Given the description of an element on the screen output the (x, y) to click on. 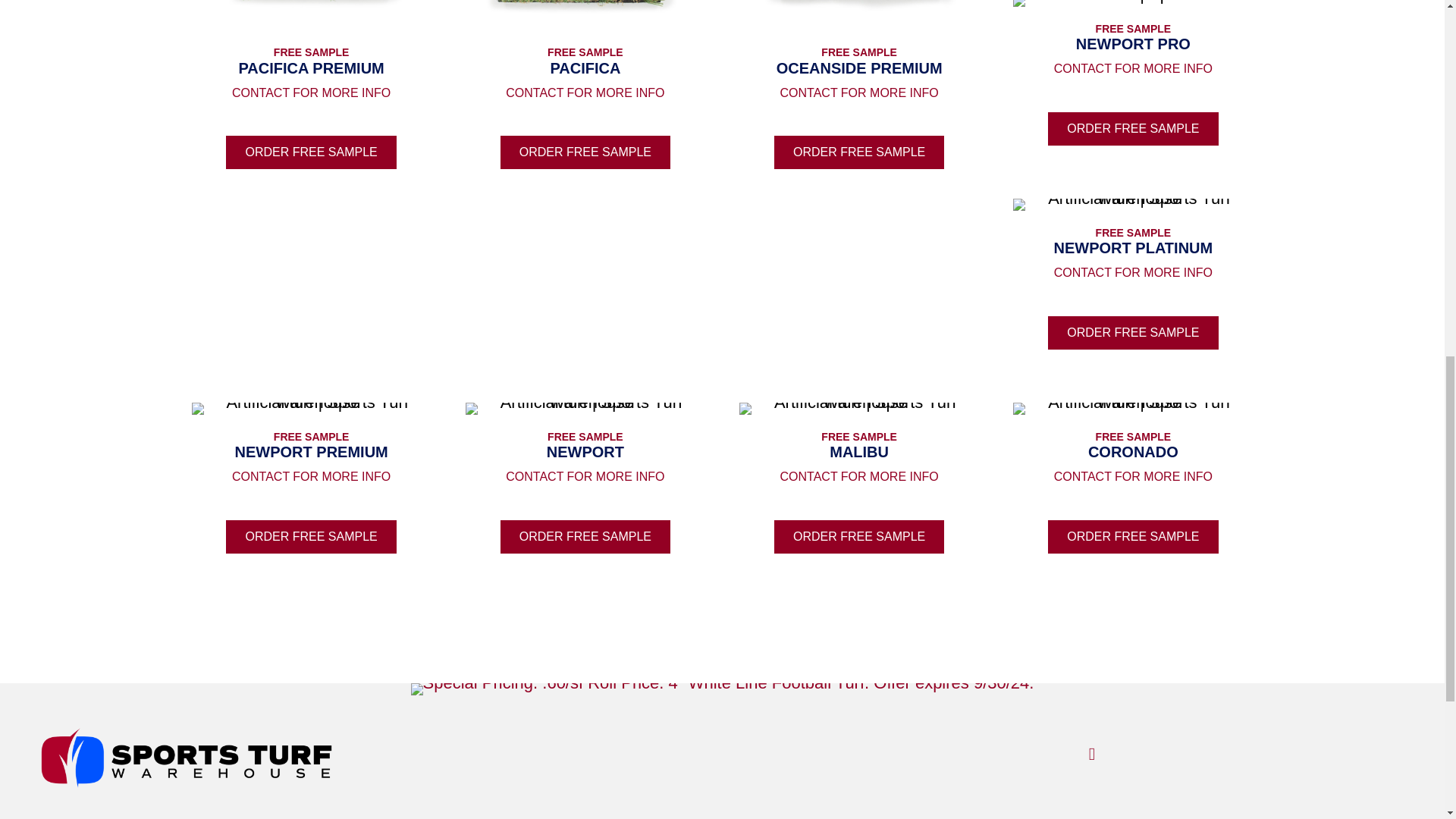
ORDER FREE SAMPLE (1132, 128)
Newport Platinum (1132, 204)
Oceanside Premium (858, 15)
ORDER FREE SAMPLE (310, 151)
Pacifica Premium (310, 15)
CONTACT FOR MORE INFO (1133, 68)
Click Here (584, 151)
Click Here (858, 151)
CONTACT FOR MORE INFO (584, 92)
ORDER FREE SAMPLE (858, 151)
